Given the description of an element on the screen output the (x, y) to click on. 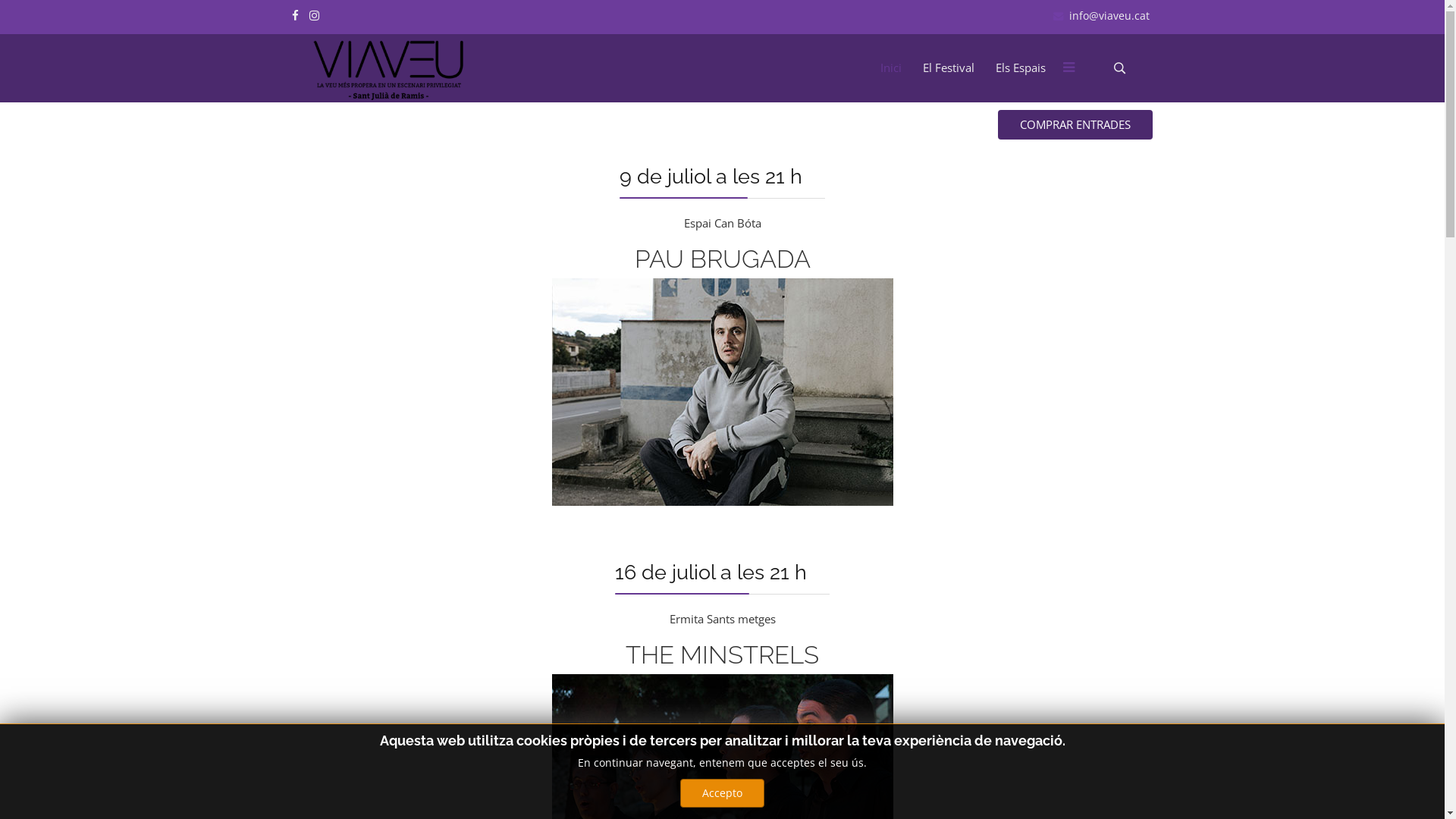
COMPRAR ENTRADES Element type: text (1074, 124)
Els Espais Element type: text (1020, 67)
El Festival Element type: text (948, 67)
info@viaveu.cat Element type: text (1109, 15)
Inici Element type: text (890, 67)
